Given the description of an element on the screen output the (x, y) to click on. 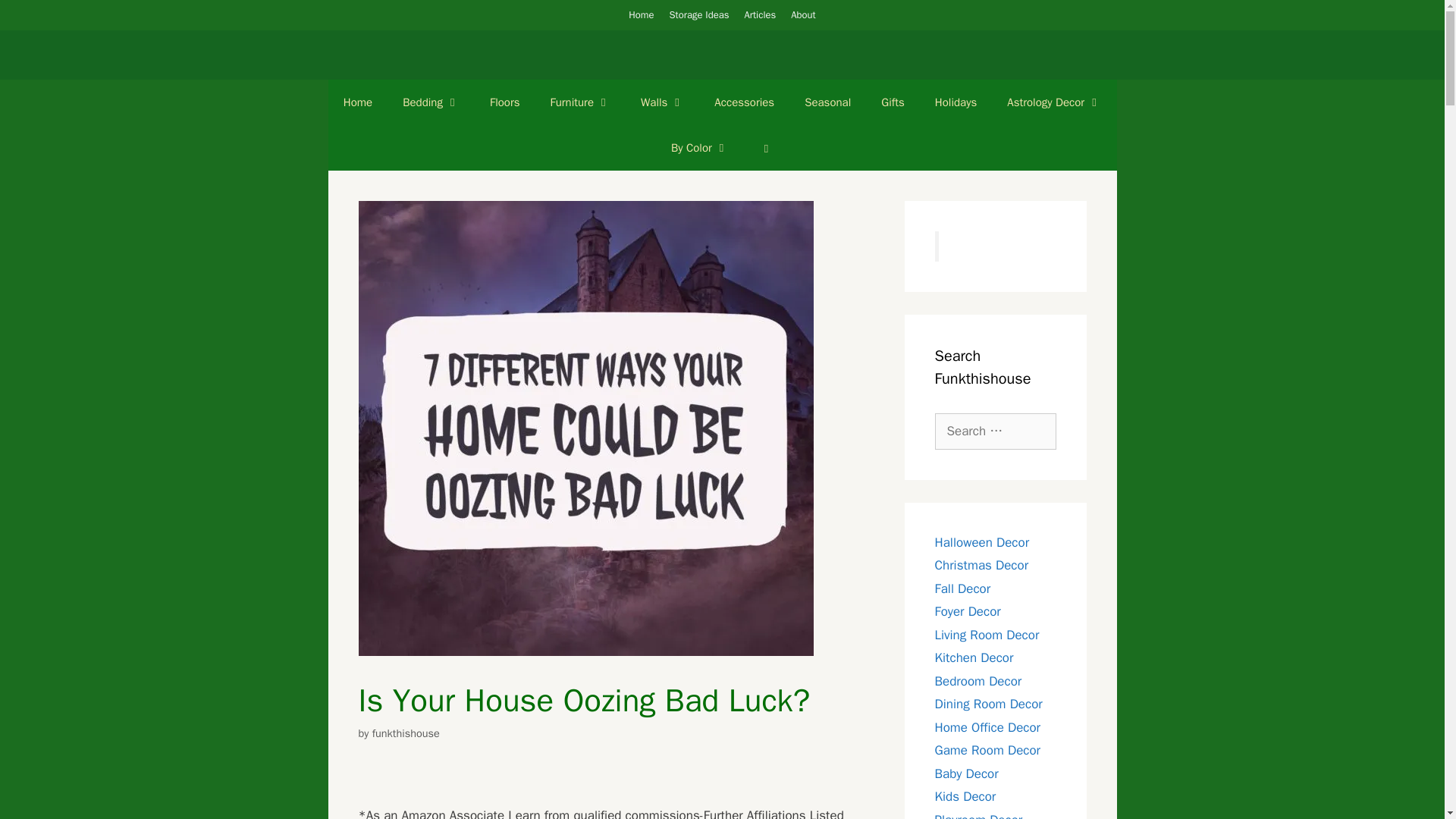
Home (358, 102)
Walls (662, 102)
Articles (760, 14)
Storage Ideas (699, 14)
Astrology Decor (1053, 102)
Home (640, 14)
View all posts by funkthishouse (405, 733)
Holidays (955, 102)
Floors (504, 102)
Furniture (580, 102)
